Given the description of an element on the screen output the (x, y) to click on. 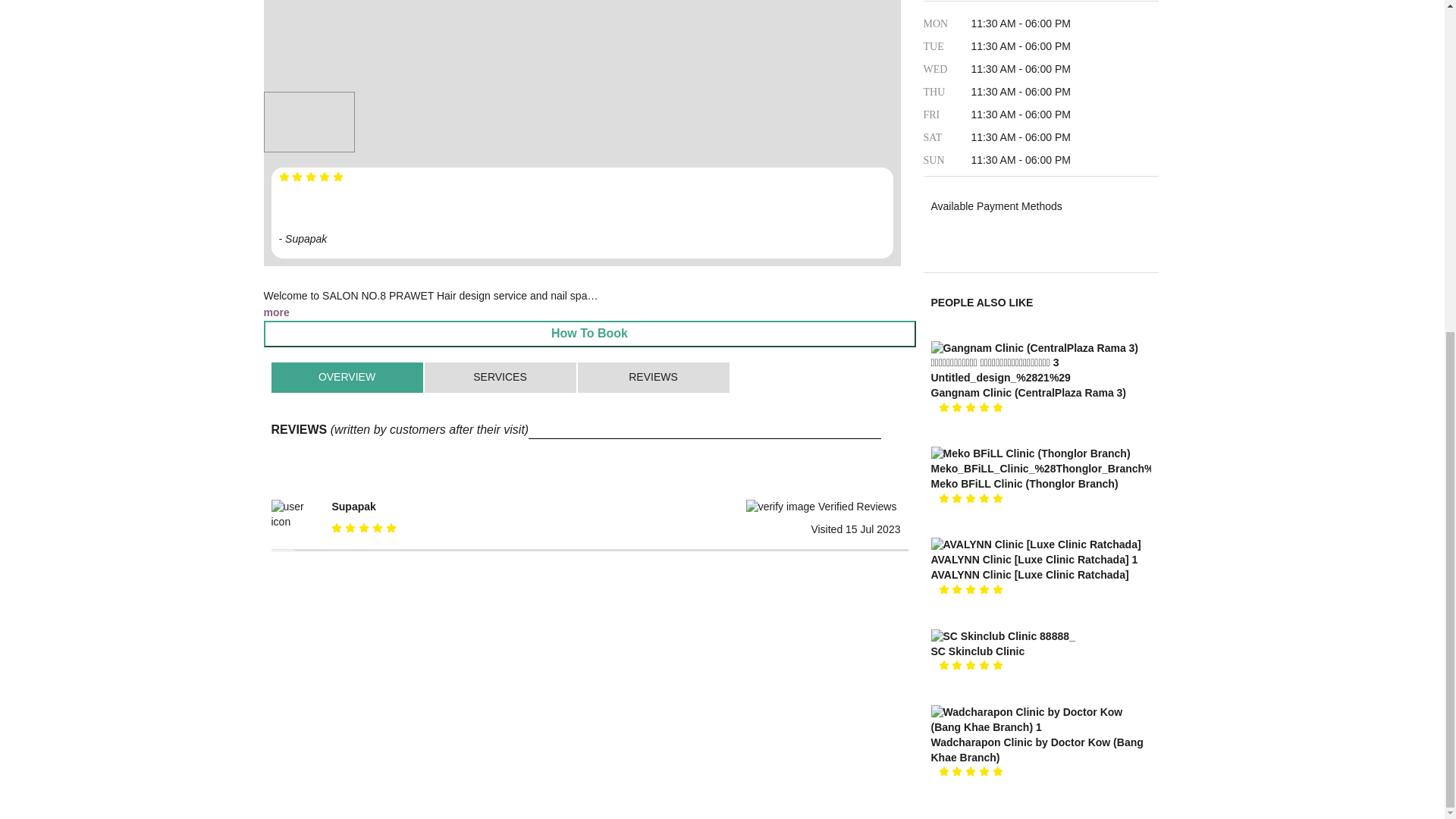
Allow Online Payment (942, 232)
